Given the description of an element on the screen output the (x, y) to click on. 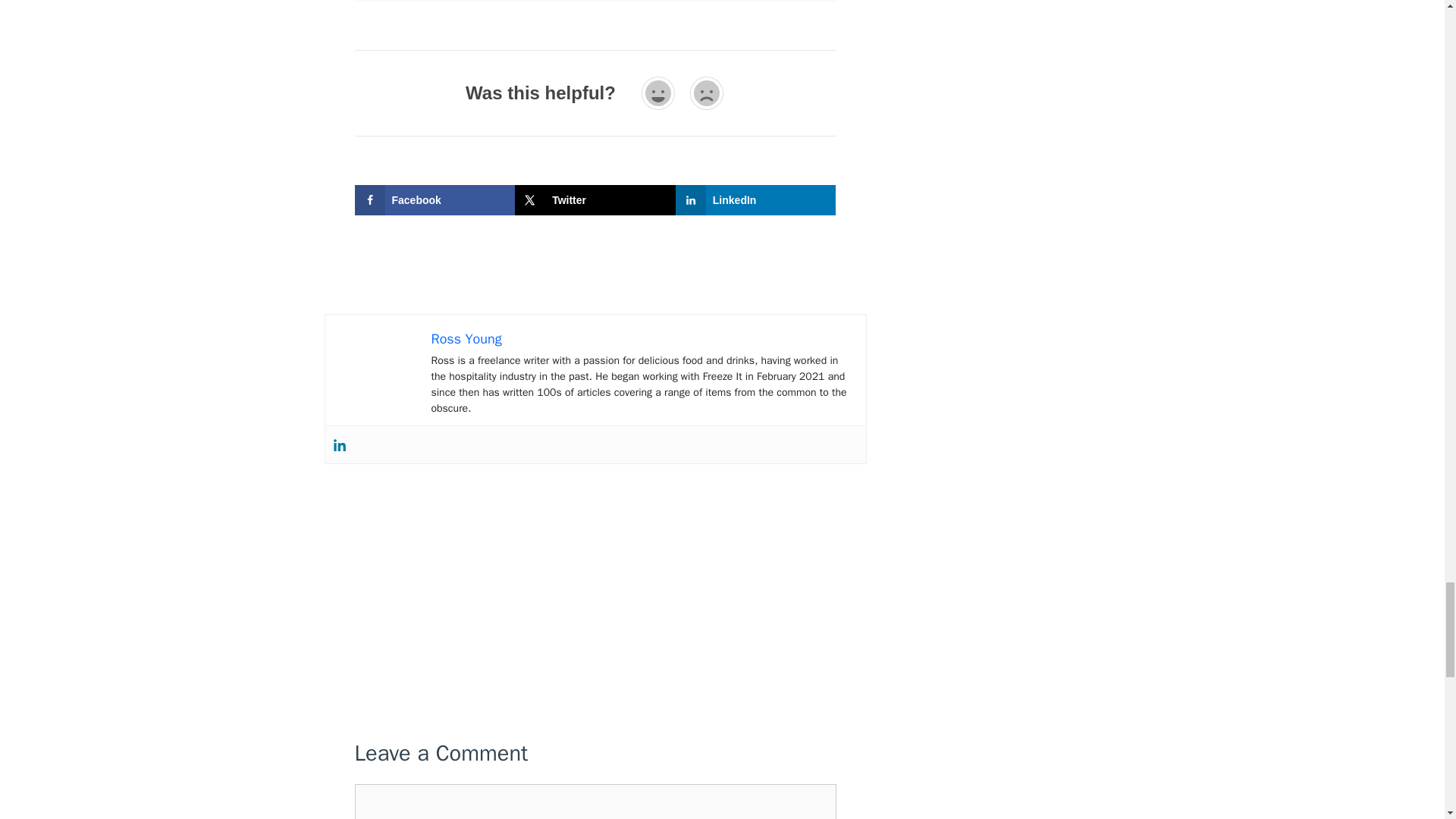
Share on LinkedIn (755, 200)
Share on Facebook (435, 200)
Linkedin (338, 444)
Share on X (595, 200)
